Given the description of an element on the screen output the (x, y) to click on. 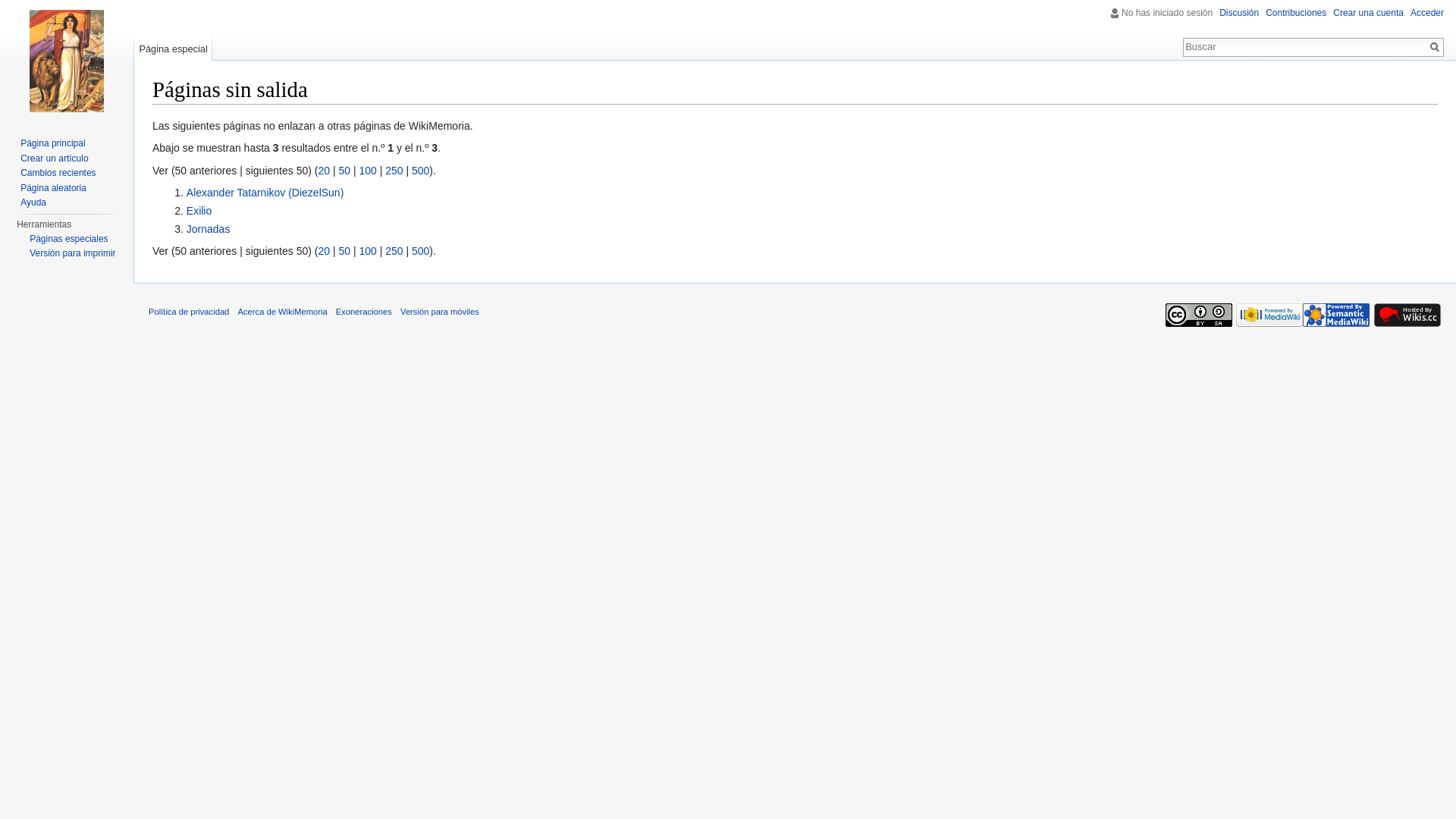
100 Element type: text (367, 250)
20 Element type: text (323, 170)
Cambios recientes Element type: text (57, 172)
100 Element type: text (367, 170)
Ayuda Element type: text (33, 202)
250 Element type: text (393, 250)
Contribuciones Element type: text (1295, 12)
Exoneraciones Element type: text (363, 311)
Acerca de WikiMemoria Element type: text (282, 311)
500 Element type: text (420, 250)
Buscar en WikiMemoria [alt-shift-f] Element type: hover (1304, 45)
Alexander Tatarnikov (DiezelSun) Element type: text (265, 192)
Crear una cuenta Element type: text (1368, 12)
Ir Element type: text (1434, 46)
Acceder Element type: text (1426, 12)
Jornadas Element type: text (208, 228)
20 Element type: text (323, 250)
Exilio Element type: text (198, 210)
250 Element type: text (393, 170)
50 Element type: text (344, 170)
500 Element type: text (420, 170)
50 Element type: text (344, 250)
